Given the description of an element on the screen output the (x, y) to click on. 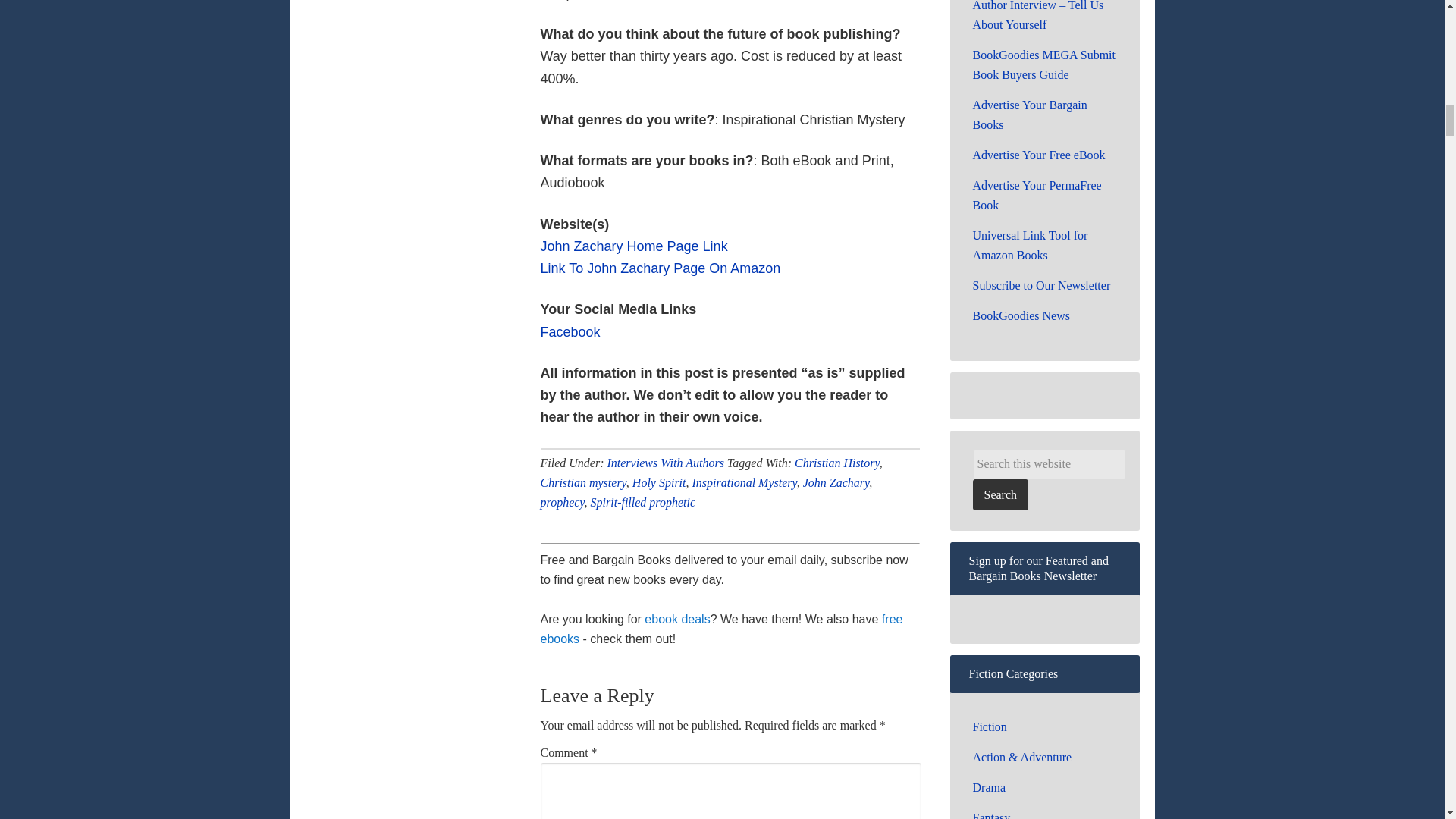
Search (999, 494)
Facebook (569, 331)
John Zachary Home Page Link (633, 246)
Search (999, 494)
Link To John Zachary Page On Amazon (660, 268)
